Given the description of an element on the screen output the (x, y) to click on. 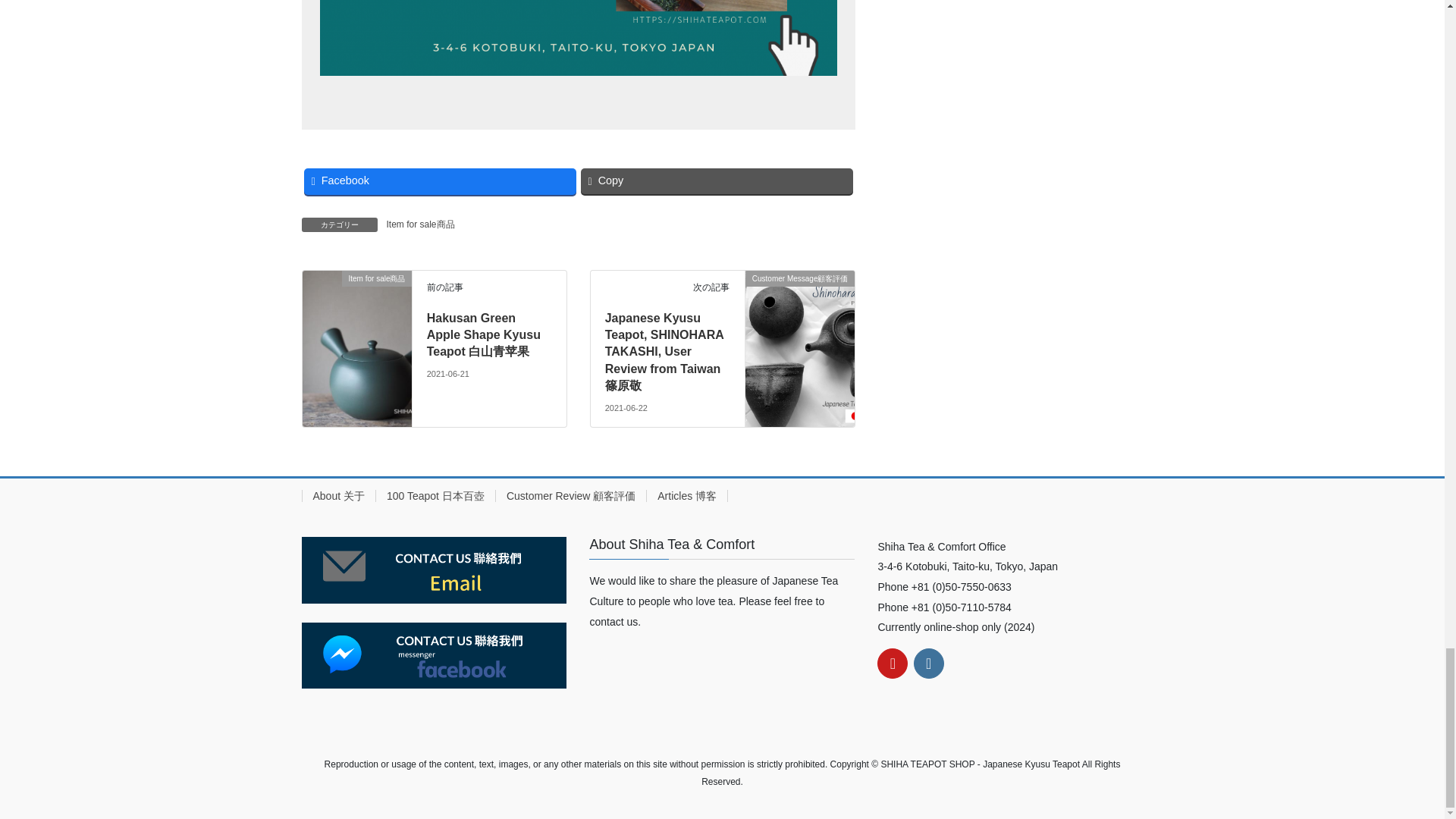
Facebook (438, 181)
Copy (716, 181)
